Given the description of an element on the screen output the (x, y) to click on. 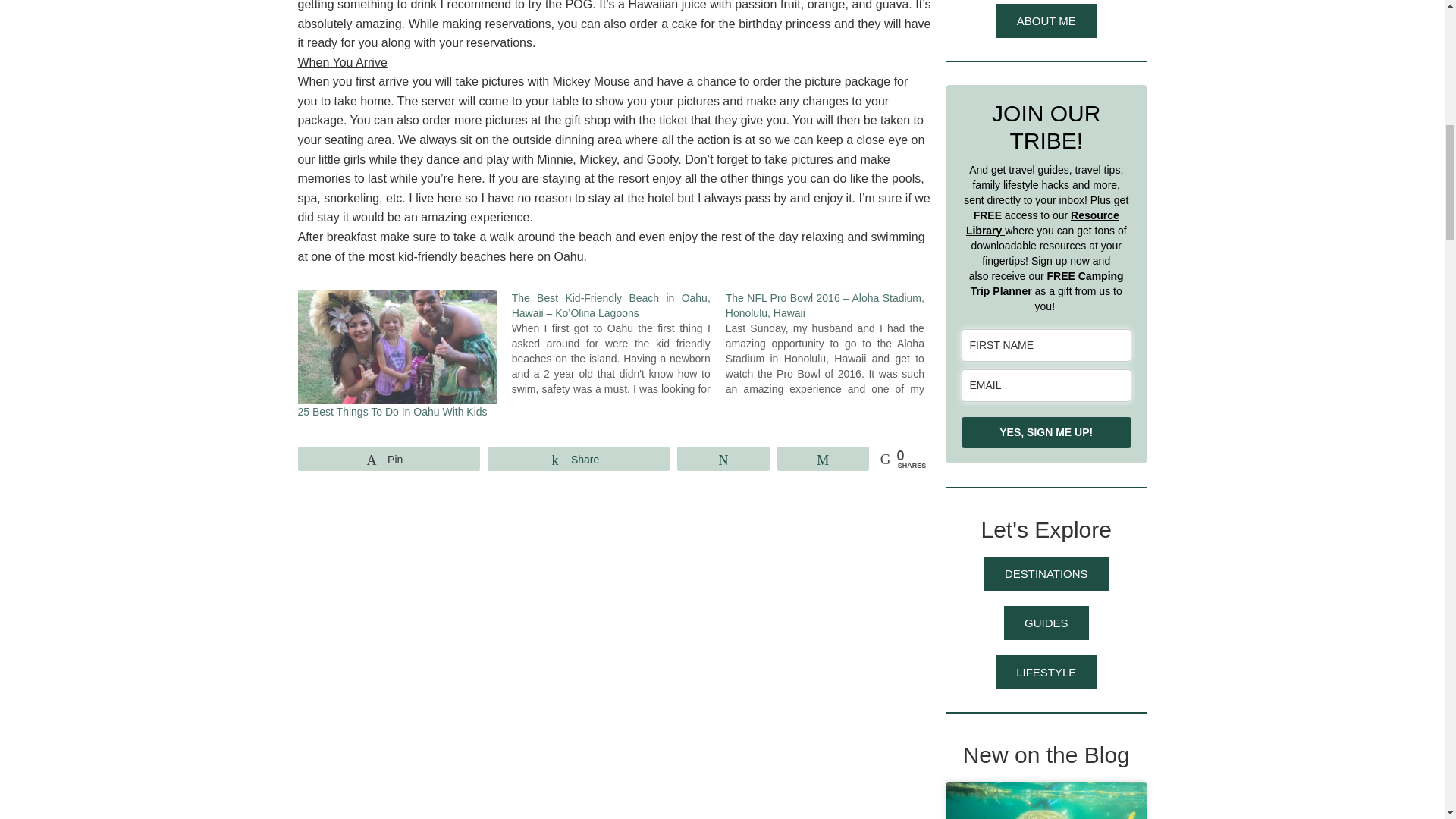
25 Best Things To Do In Oahu With Kids (391, 411)
25 Best Things To Do In Oahu With Kids (396, 347)
